Given the description of an element on the screen output the (x, y) to click on. 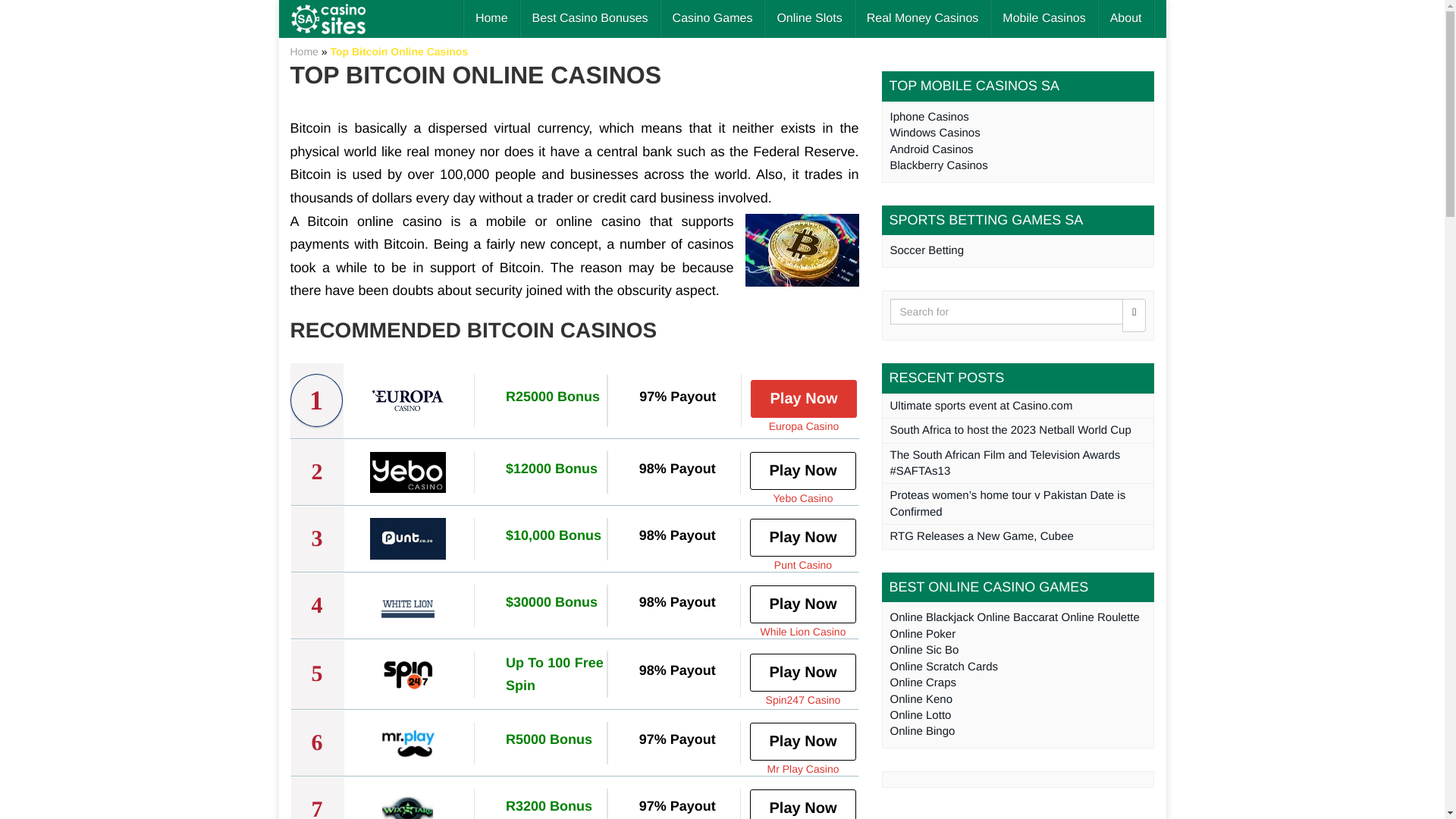
Europa Casino (804, 425)
Real Money Casinos (923, 18)
Casino Games (712, 18)
Mobile Casinos (1043, 18)
Play Now (802, 672)
While Lion Casino (802, 630)
Punt Casino (802, 563)
Best Casino Bonuses (590, 18)
About (1126, 18)
Home (491, 18)
